Given the description of an element on the screen output the (x, y) to click on. 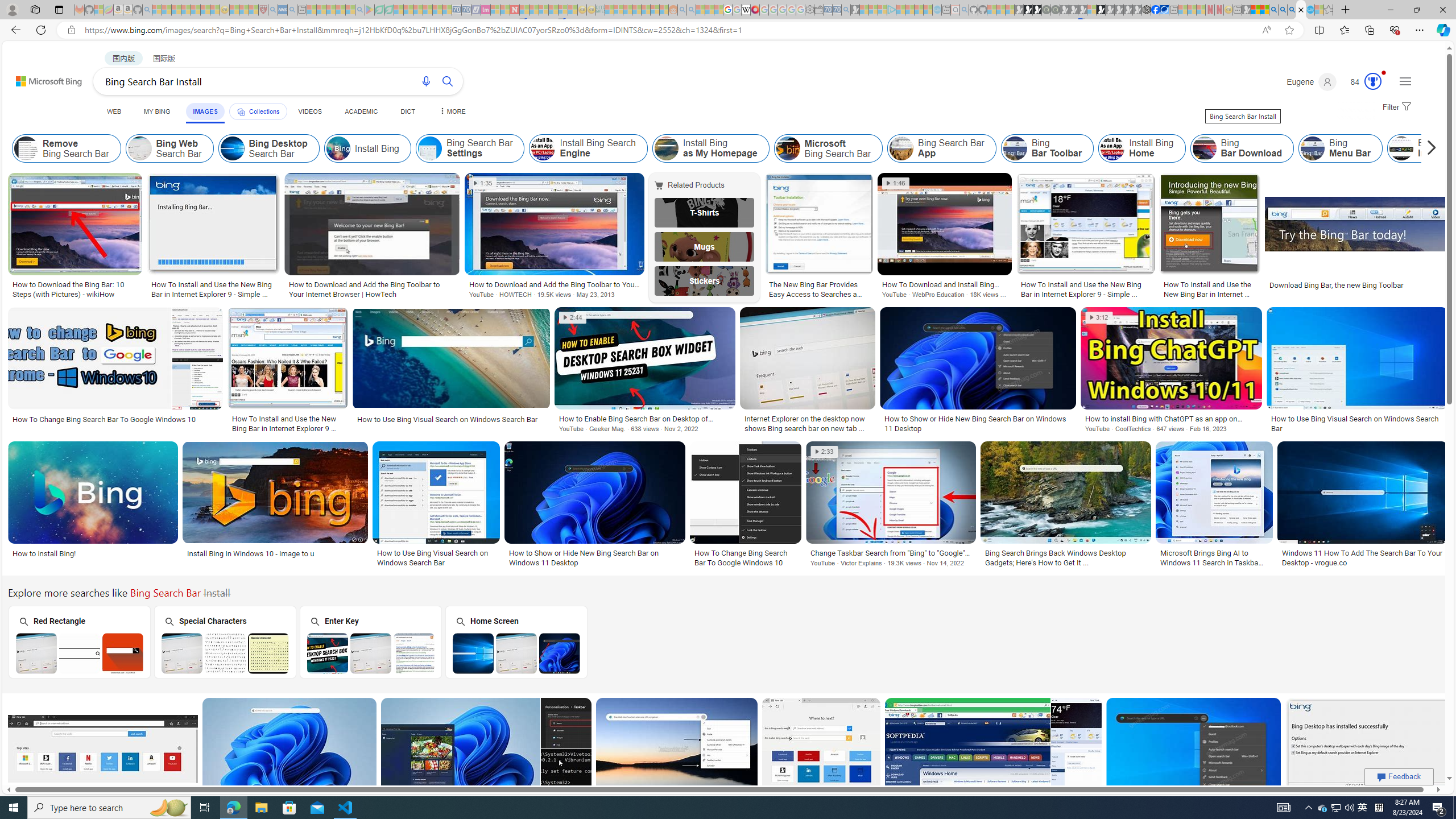
Install Bing Search Engine (588, 148)
3:12 (1098, 317)
Bing AI - Search (1272, 9)
Related ProductsT-ShirtsMugsStickers (706, 237)
MY BING (156, 111)
Favorites - Sleeping (1328, 9)
Bing Search Bar On Home Screen (515, 652)
Bing Real Estate - Home sales and rental listings - Sleeping (846, 9)
